Given the description of an element on the screen output the (x, y) to click on. 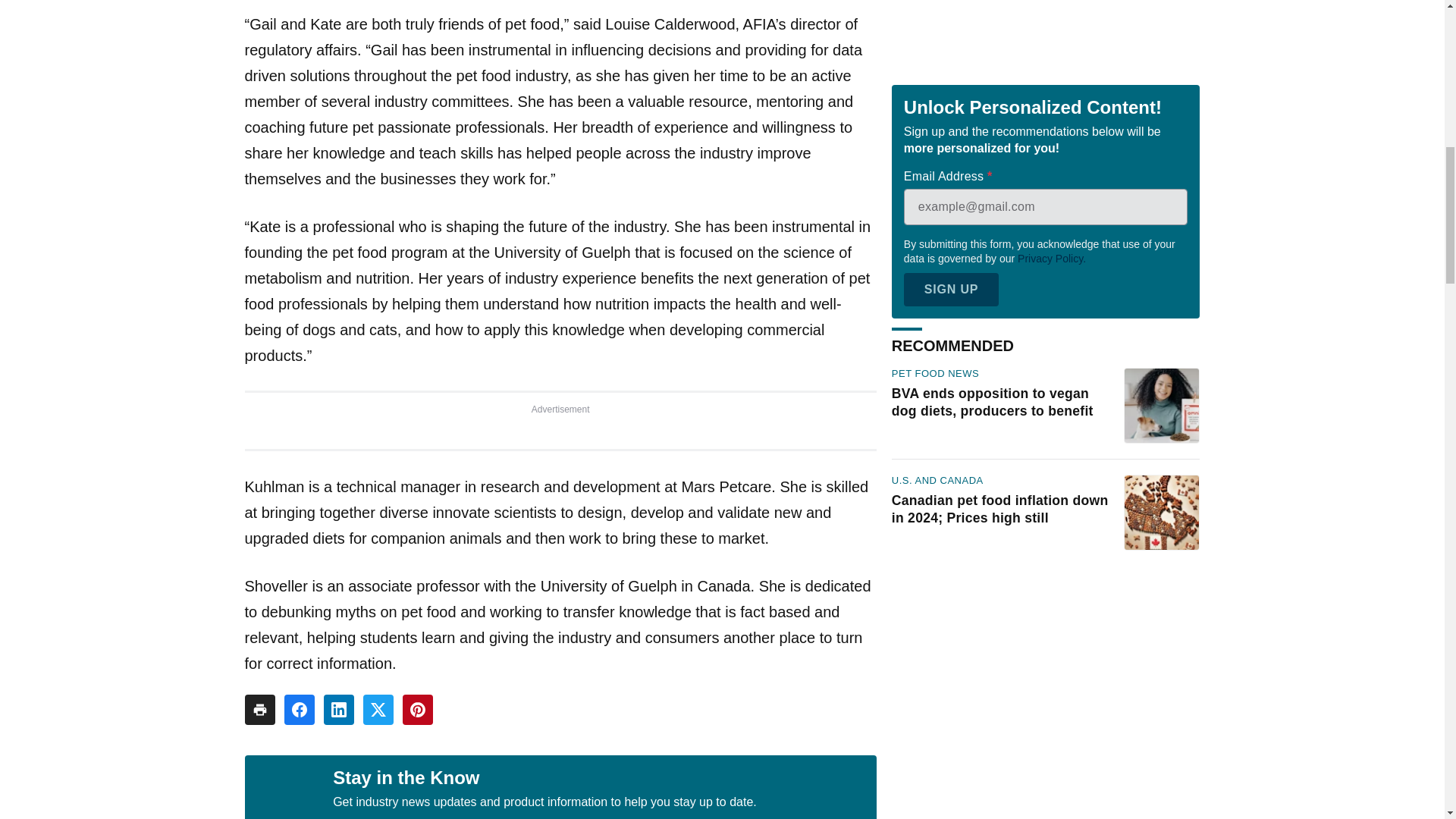
Share To twitter (377, 709)
Share To print (259, 709)
Share To pinterest (416, 709)
Share To linkedin (338, 709)
Share To facebook (298, 709)
